Given the description of an element on the screen output the (x, y) to click on. 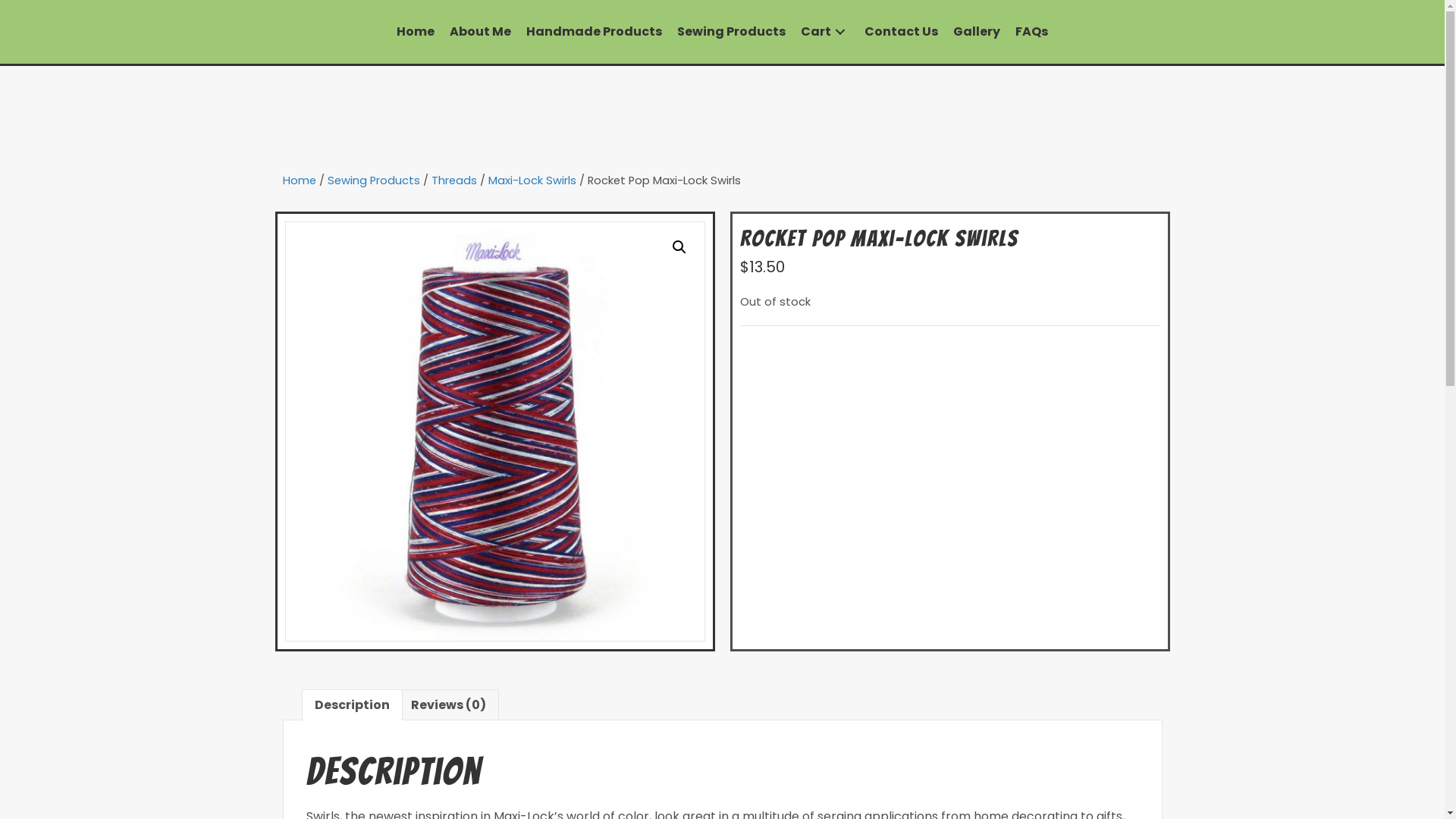
Cart Element type: text (824, 31)
Rocket-pop.jpg Element type: hover (495, 431)
Threads Element type: text (453, 180)
Description Element type: text (351, 705)
Sewing Products Element type: text (731, 31)
Home Element type: text (415, 31)
FAQs Element type: text (1031, 31)
Handmade Products Element type: text (593, 31)
Gallery Element type: text (976, 31)
Maxi-Lock Swirls Element type: text (532, 180)
Sewing Products Element type: text (373, 180)
About Me Element type: text (480, 31)
Reviews (0) Element type: text (448, 705)
Home Element type: text (298, 180)
Contact Us Element type: text (900, 31)
